Given the description of an element on the screen output the (x, y) to click on. 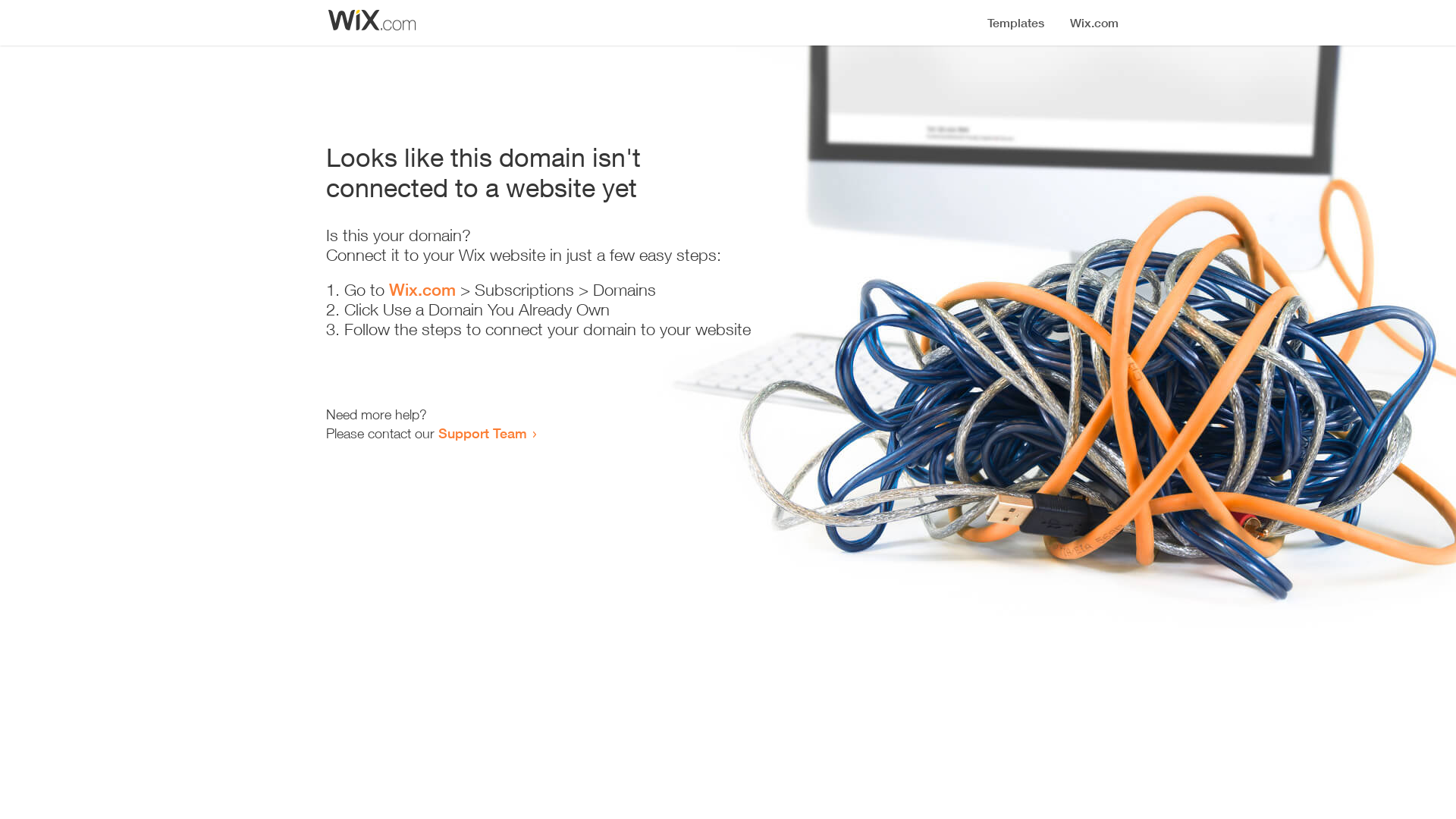
Wix.com Element type: text (422, 289)
Support Team Element type: text (482, 432)
